Given the description of an element on the screen output the (x, y) to click on. 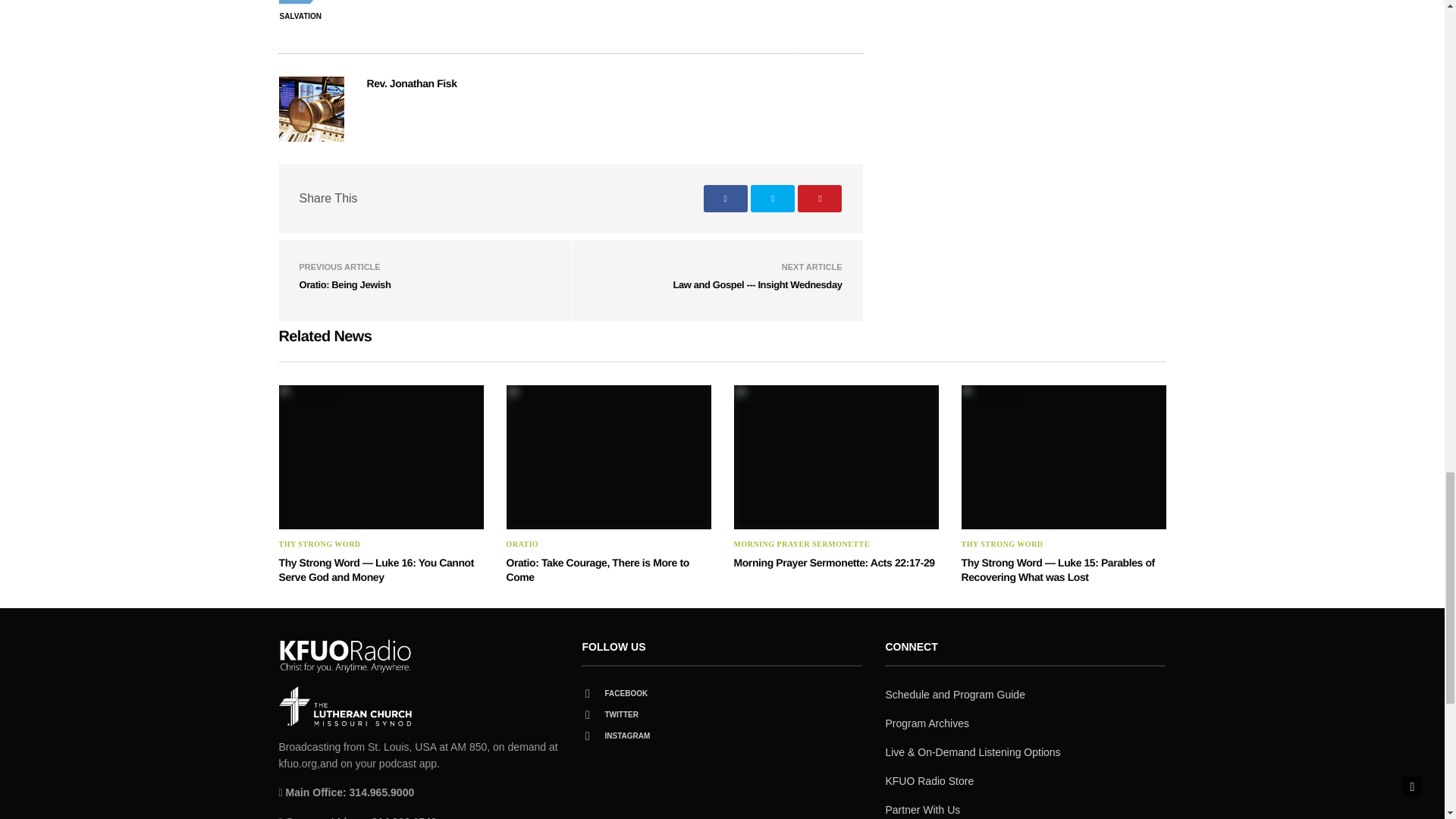
Law and Gospel --- Insight Wednesday (757, 284)
Oratio: Being Jewish (344, 284)
